Given the description of an element on the screen output the (x, y) to click on. 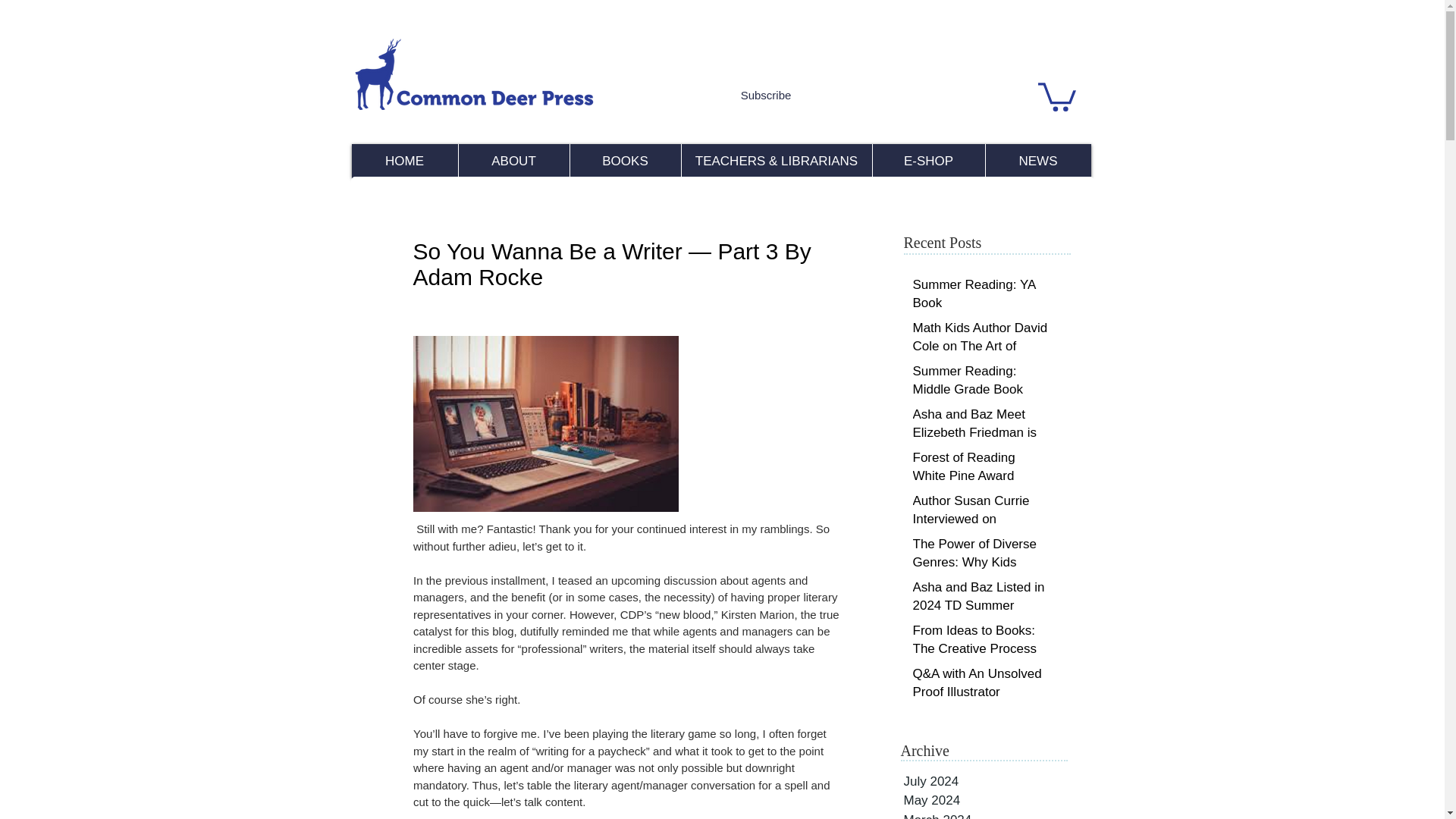
E-SHOP (928, 161)
Subscribe (765, 94)
ABOUT (513, 161)
HOME (405, 161)
NEWS (1037, 161)
BOOKS (624, 161)
Summer Reading: YA Book Recommendations from Cate Carlyle (981, 305)
